Given the description of an element on the screen output the (x, y) to click on. 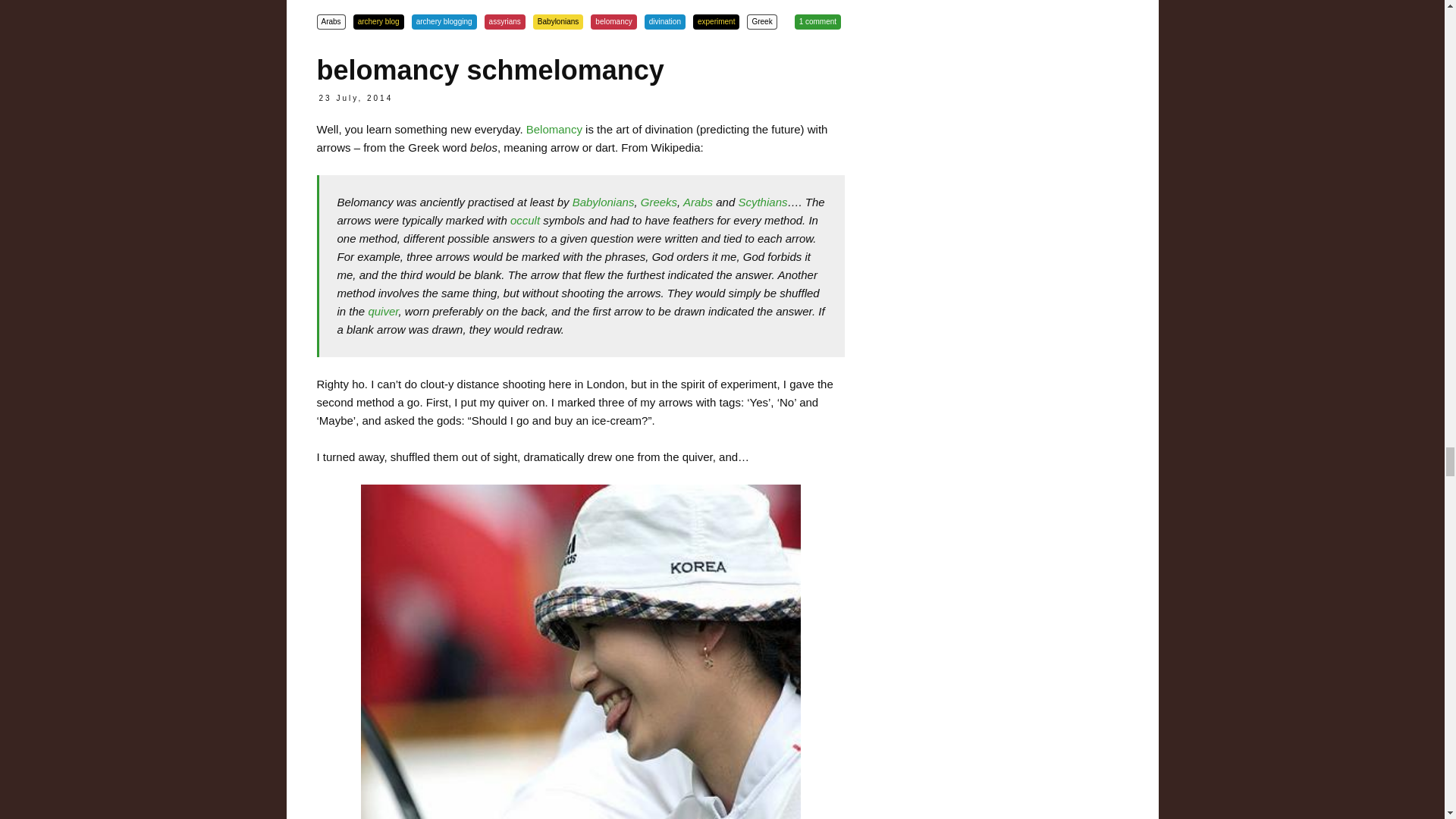
Scythian (762, 201)
Occult (525, 219)
Arab (697, 201)
Quiver (382, 310)
Greeks (658, 201)
Babylonia (603, 201)
